Given the description of an element on the screen output the (x, y) to click on. 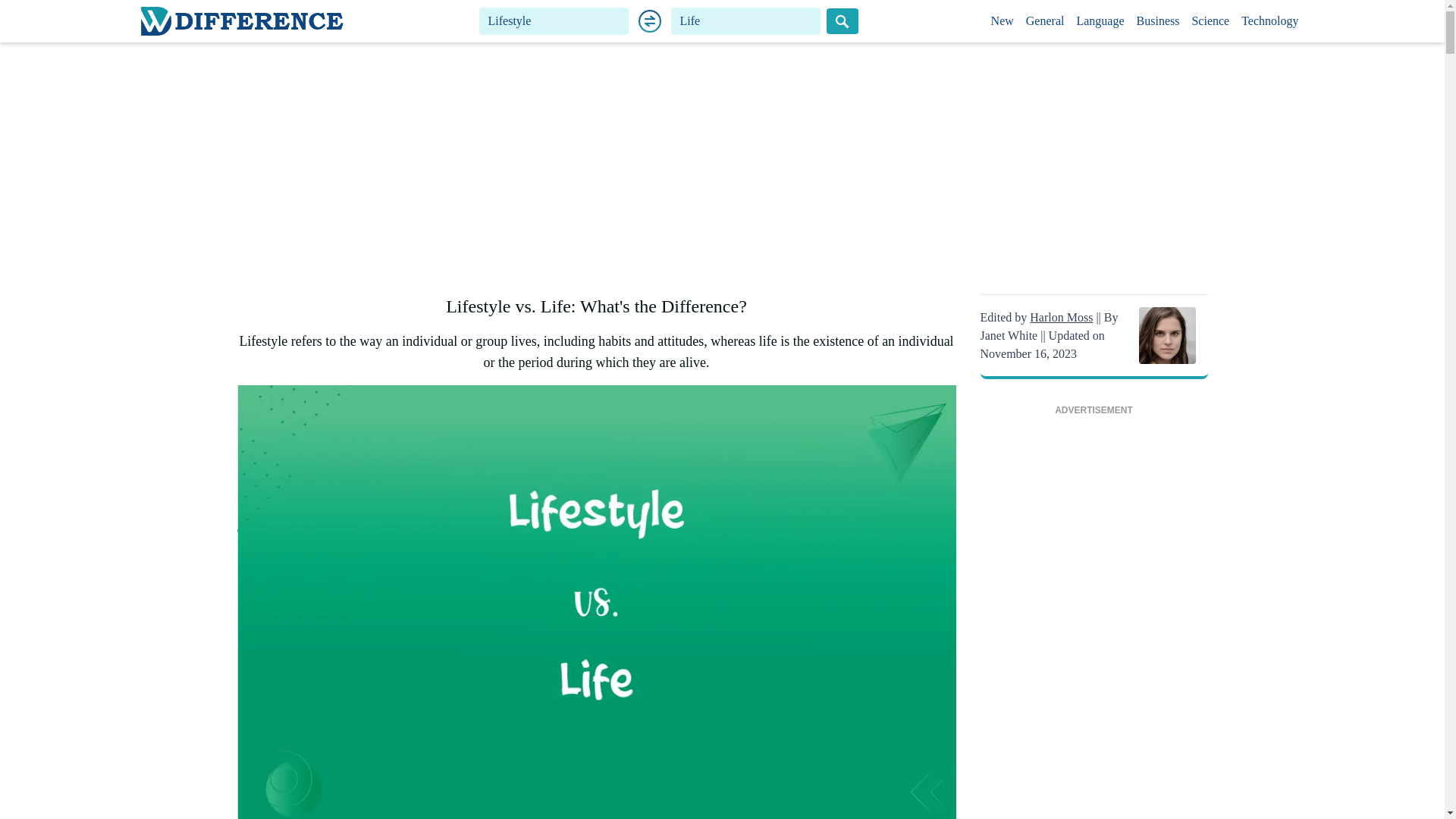
Lifestyle (553, 21)
New (1002, 21)
Life (746, 21)
Science (1209, 21)
Business (1158, 21)
Technology (1269, 21)
Language (1099, 21)
General (1045, 21)
